Given the description of an element on the screen output the (x, y) to click on. 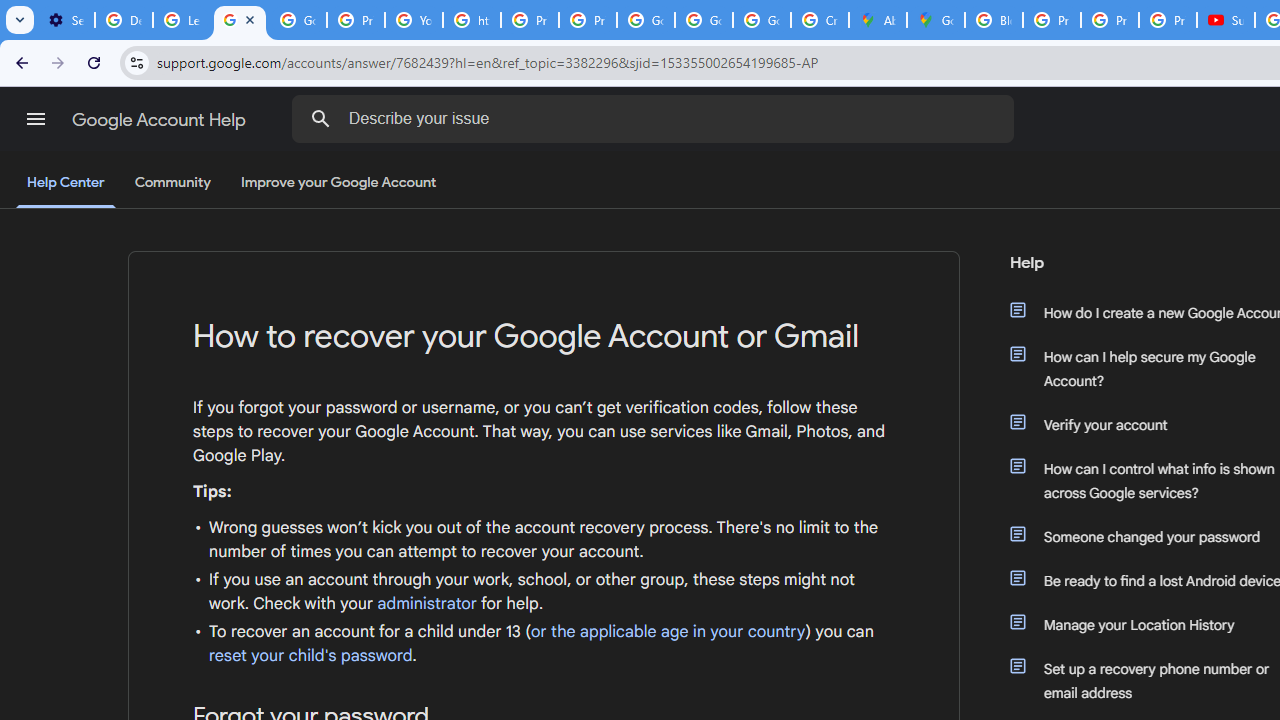
Privacy Help Center - Policies Help (1051, 20)
Google Maps (936, 20)
Privacy Help Center - Policies Help (529, 20)
Create your Google Account (819, 20)
